Given the description of an element on the screen output the (x, y) to click on. 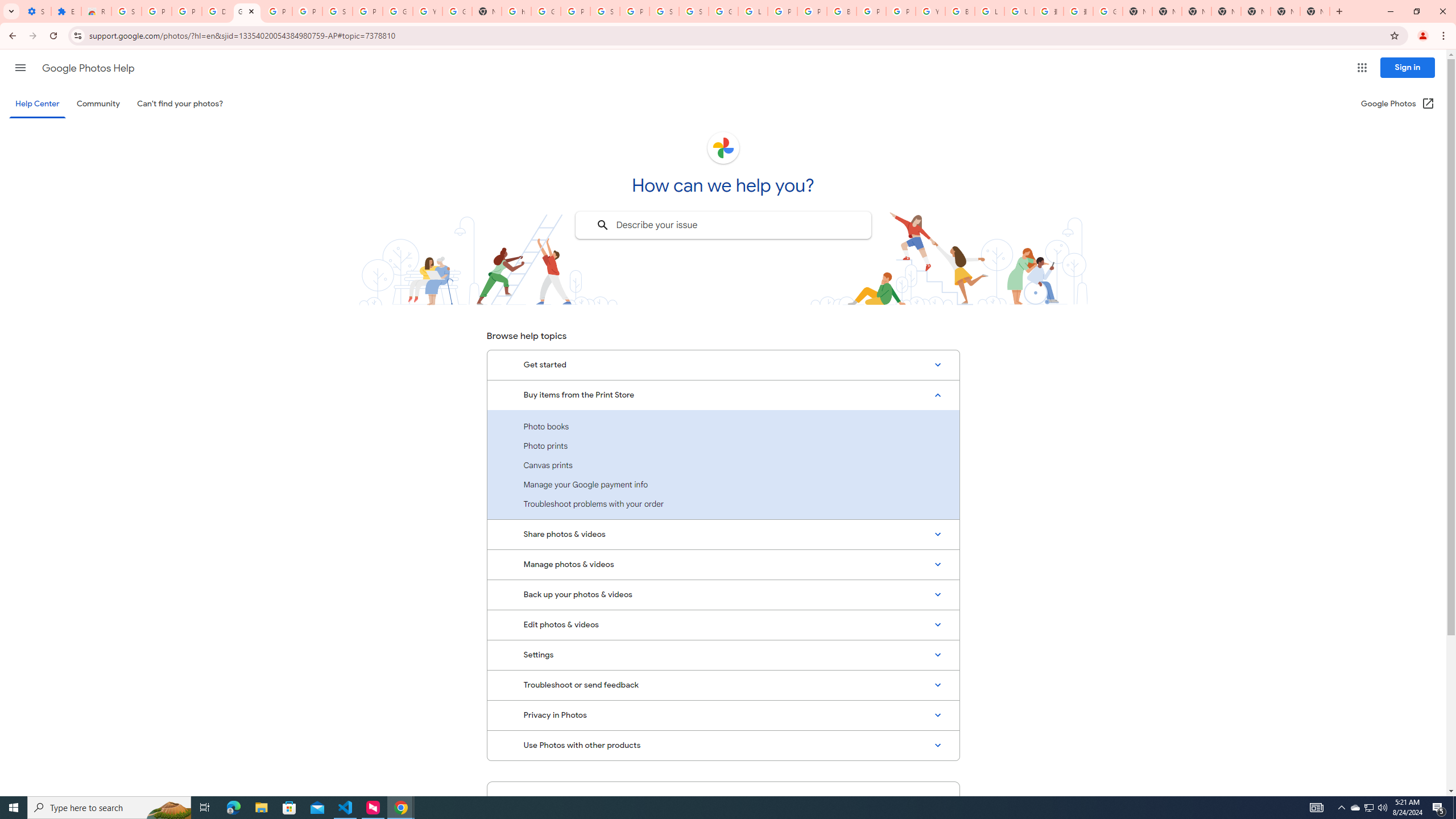
Describe your issue to find information that might help you. (722, 225)
Google Photos Help (247, 11)
Get started (722, 365)
Extensions (65, 11)
Troubleshoot problems with your order (722, 503)
Edit photos & videos (722, 624)
Sign in - Google Accounts (604, 11)
Buy items from the Print Store, Expanded list with 5 items (722, 395)
Photo books (722, 426)
New Tab (1226, 11)
